Given the description of an element on the screen output the (x, y) to click on. 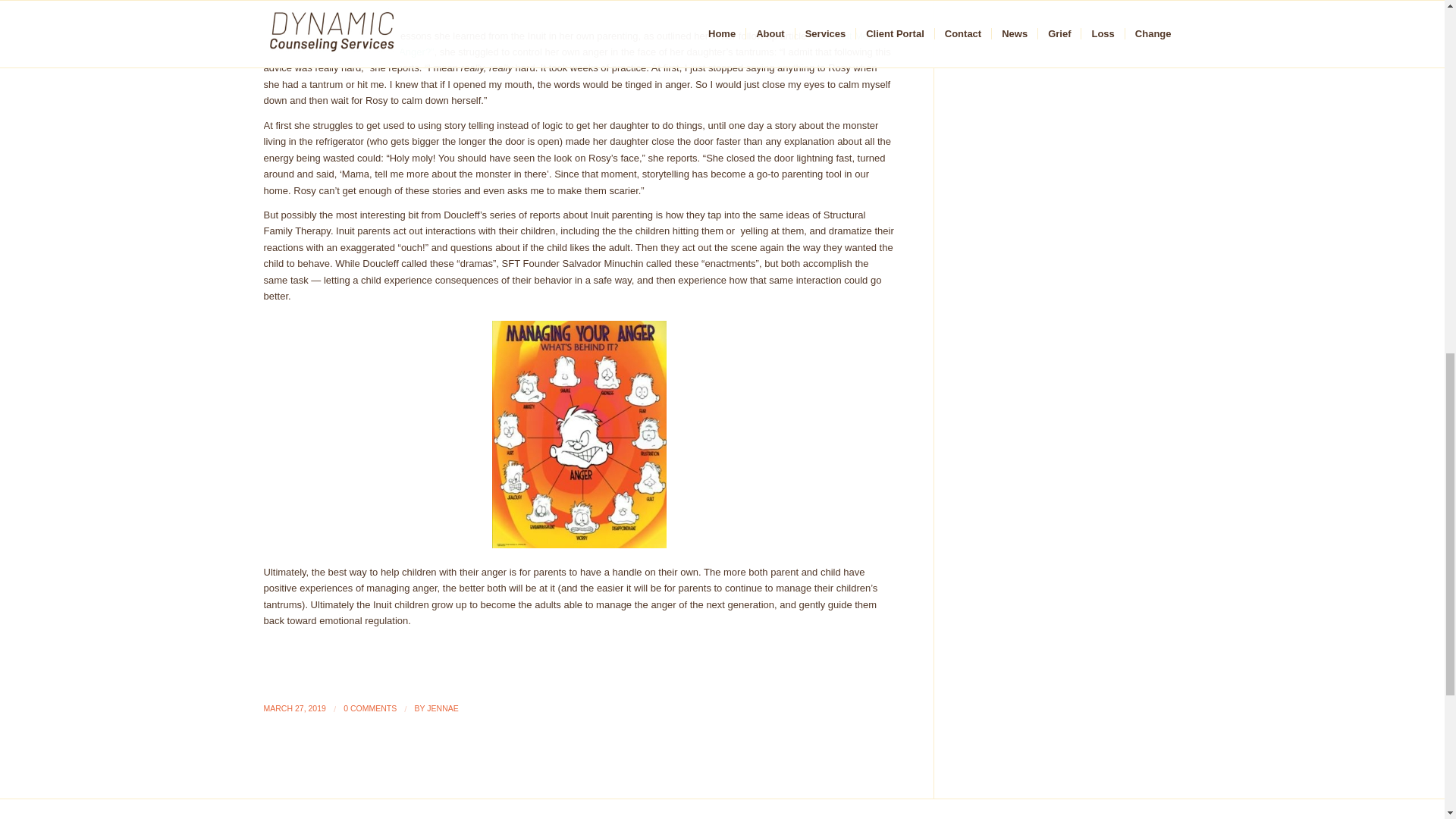
JENNAE (442, 707)
0 COMMENTS (369, 707)
Posts by Jennae (442, 707)
